Given the description of an element on the screen output the (x, y) to click on. 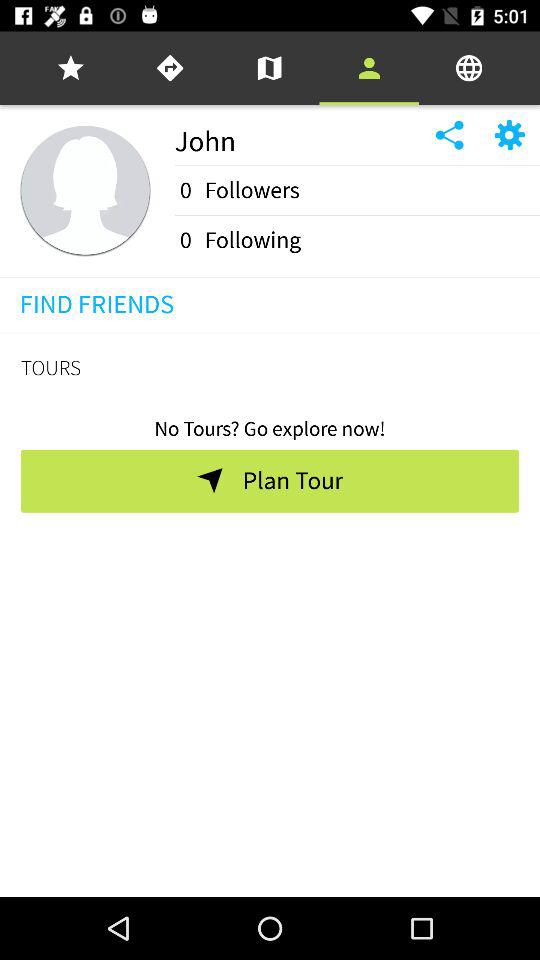
scroll until following (252, 240)
